Given the description of an element on the screen output the (x, y) to click on. 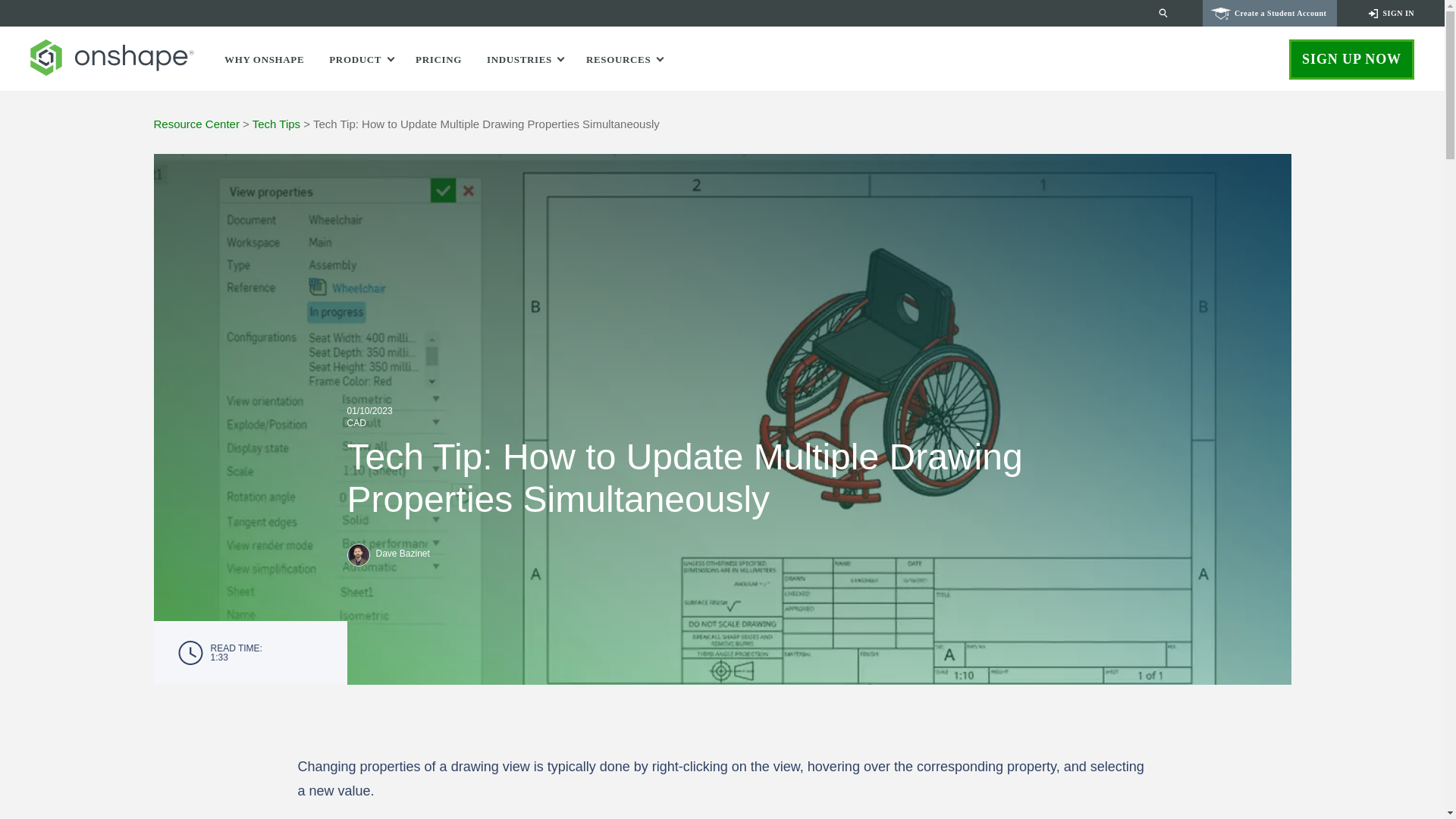
WHY ONSHAPE (264, 58)
PRICING (437, 58)
Create a Student Account (1270, 13)
PRODUCT (358, 58)
SIGN IN (1390, 13)
